Given the description of an element on the screen output the (x, y) to click on. 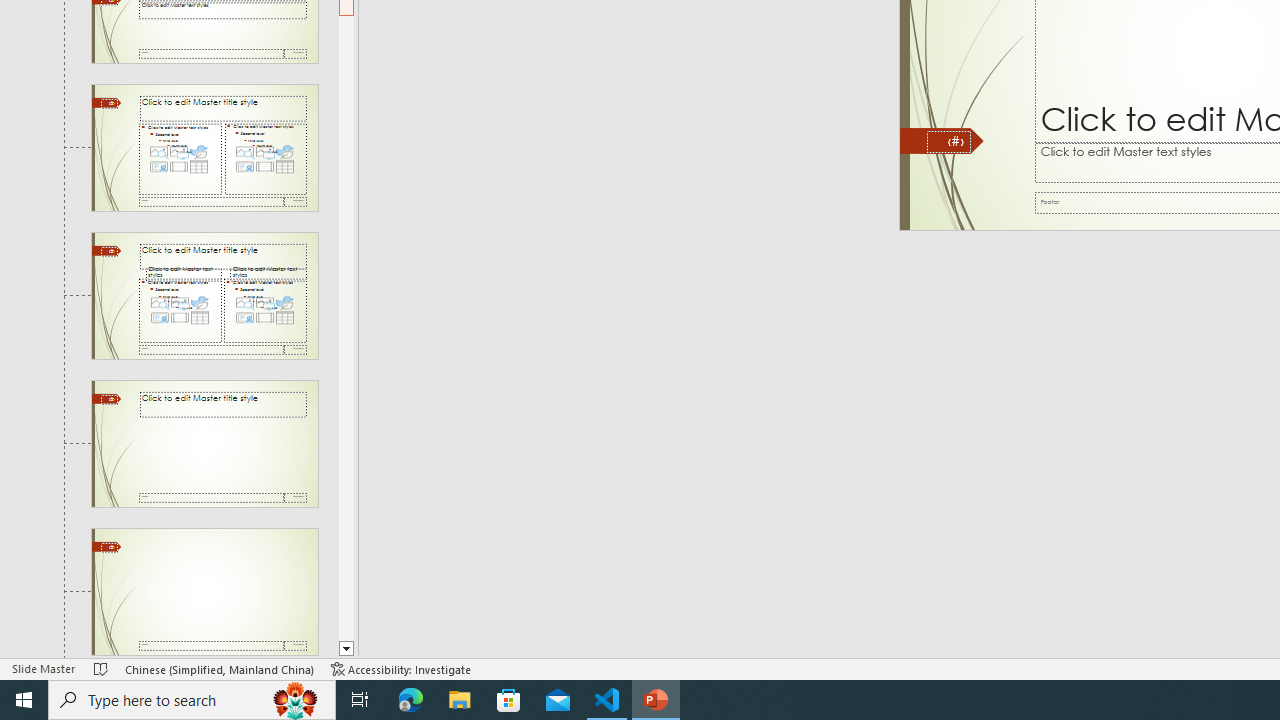
Slide Comparison Layout: used by no slides (204, 296)
Slide Title Only Layout: used by no slides (204, 443)
Page down (345, 327)
Slide Two Content Layout: used by no slides (204, 147)
Line down (345, 649)
Slide Blank Layout: used by no slides (204, 592)
Accessibility Checker Accessibility: Investigate (401, 668)
Spell Check No Errors (101, 668)
Freeform 11 (941, 141)
Slide Number (948, 141)
